Given the description of an element on the screen output the (x, y) to click on. 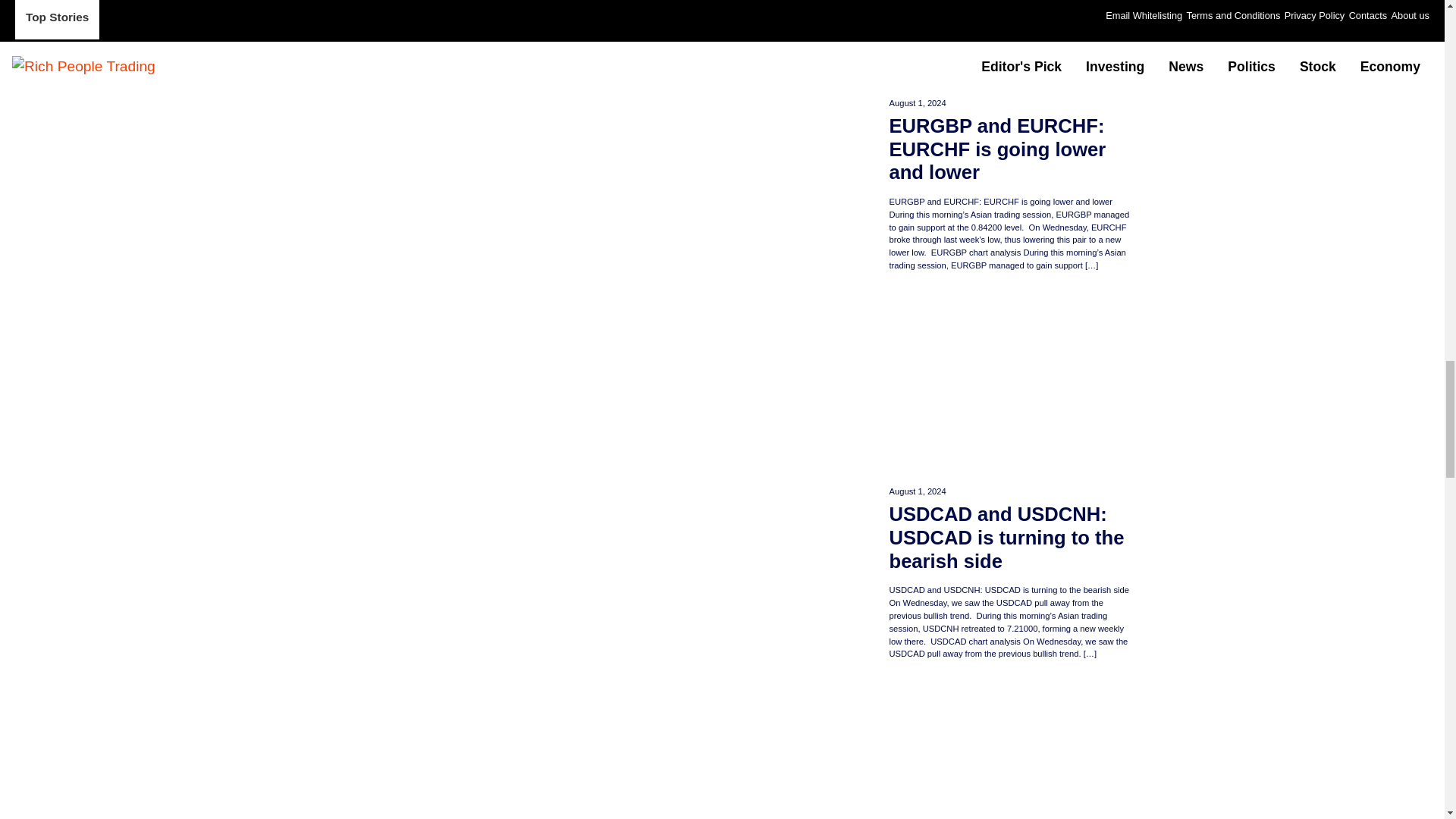
EURGBP and EURCHF: EURCHF is going lower and lower (1009, 149)
EURGBP and EURCHF: EURCHF is going lower and lower (1009, 42)
USDCAD and USDCNH: USDCAD is turning to the bearish side (1009, 537)
